Given the description of an element on the screen output the (x, y) to click on. 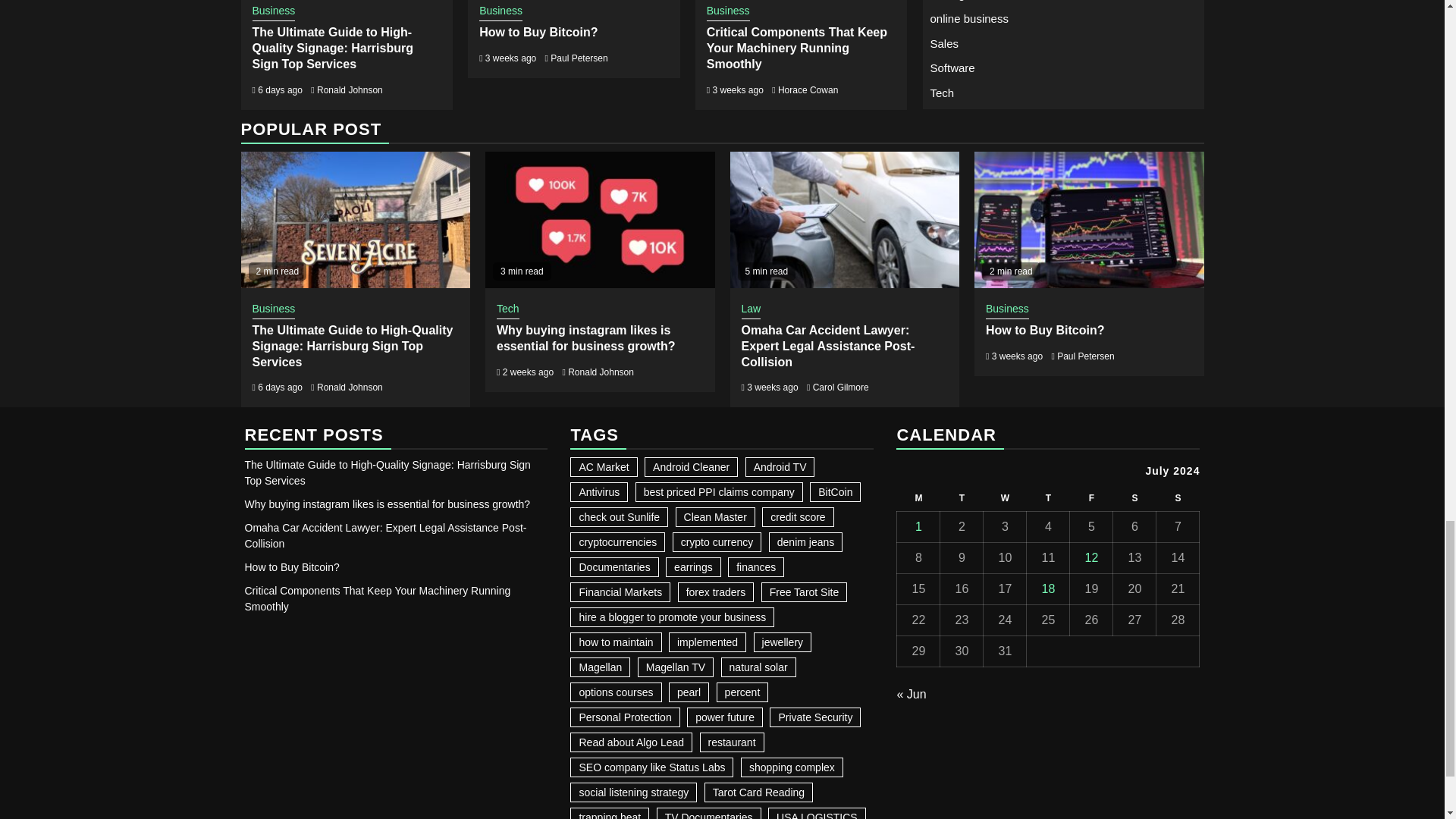
Business (500, 12)
Business (273, 12)
Sunday (1177, 498)
How to Buy Bitcoin? (537, 31)
Saturday (1134, 498)
Ronald Johnson (349, 90)
Wednesday (1005, 498)
Paul Petersen (578, 58)
Horace Cowan (807, 90)
Friday (1091, 498)
Business (727, 12)
Monday (918, 498)
Tuesday (962, 498)
